Given the description of an element on the screen output the (x, y) to click on. 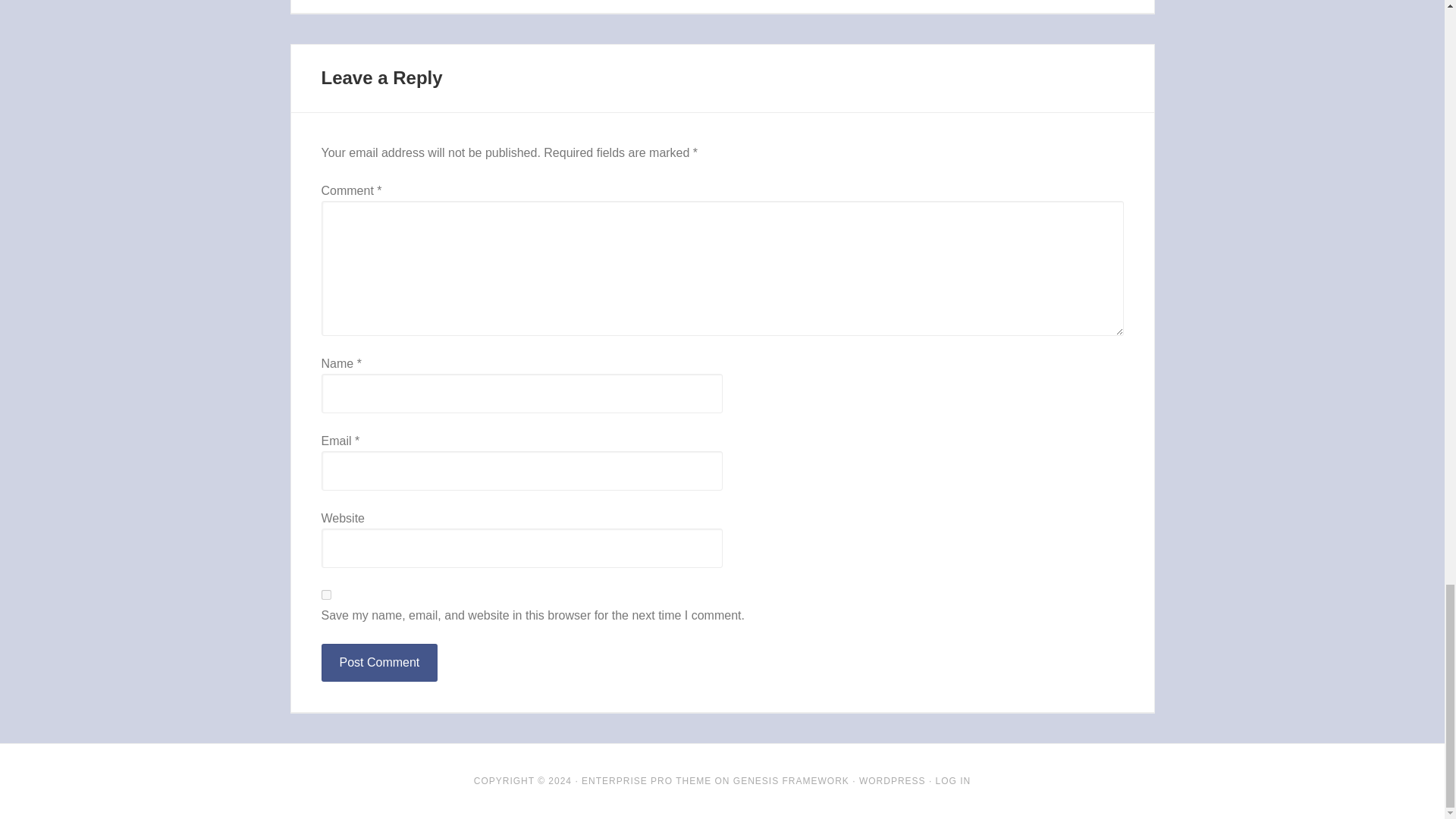
ENTERPRISE PRO THEME (645, 780)
LOG IN (953, 780)
GENESIS FRAMEWORK (790, 780)
Post Comment (379, 662)
Post Comment (379, 662)
yes (326, 594)
WORDPRESS (892, 780)
